Given the description of an element on the screen output the (x, y) to click on. 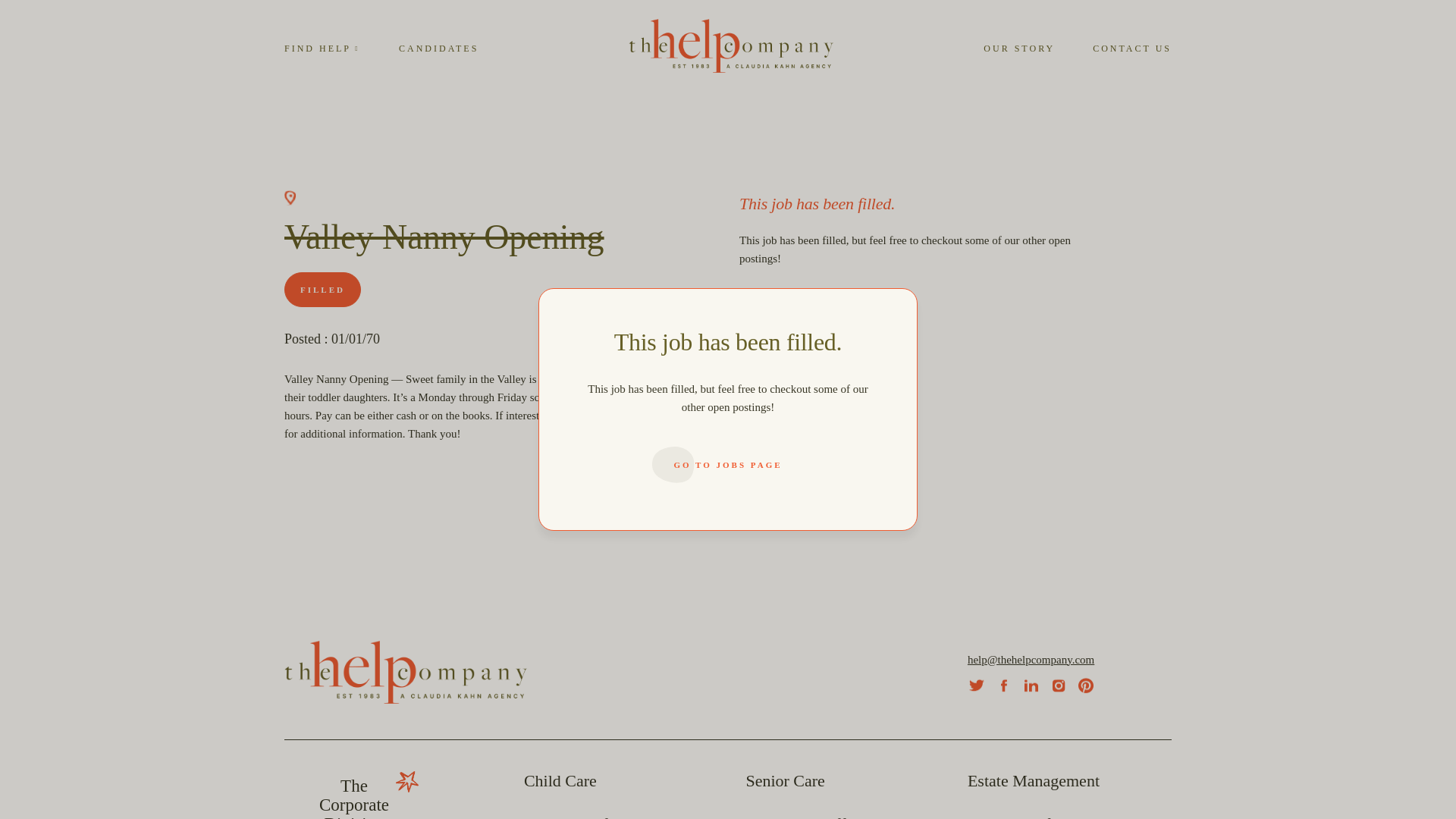
GO TO JOBS PAGE (815, 319)
OUR STORY (1019, 47)
Child Care (353, 797)
CONTACT US (560, 780)
CANDIDATES (1132, 47)
FIND HELP (438, 47)
GO TO JOBS PAGE (322, 47)
